Given the description of an element on the screen output the (x, y) to click on. 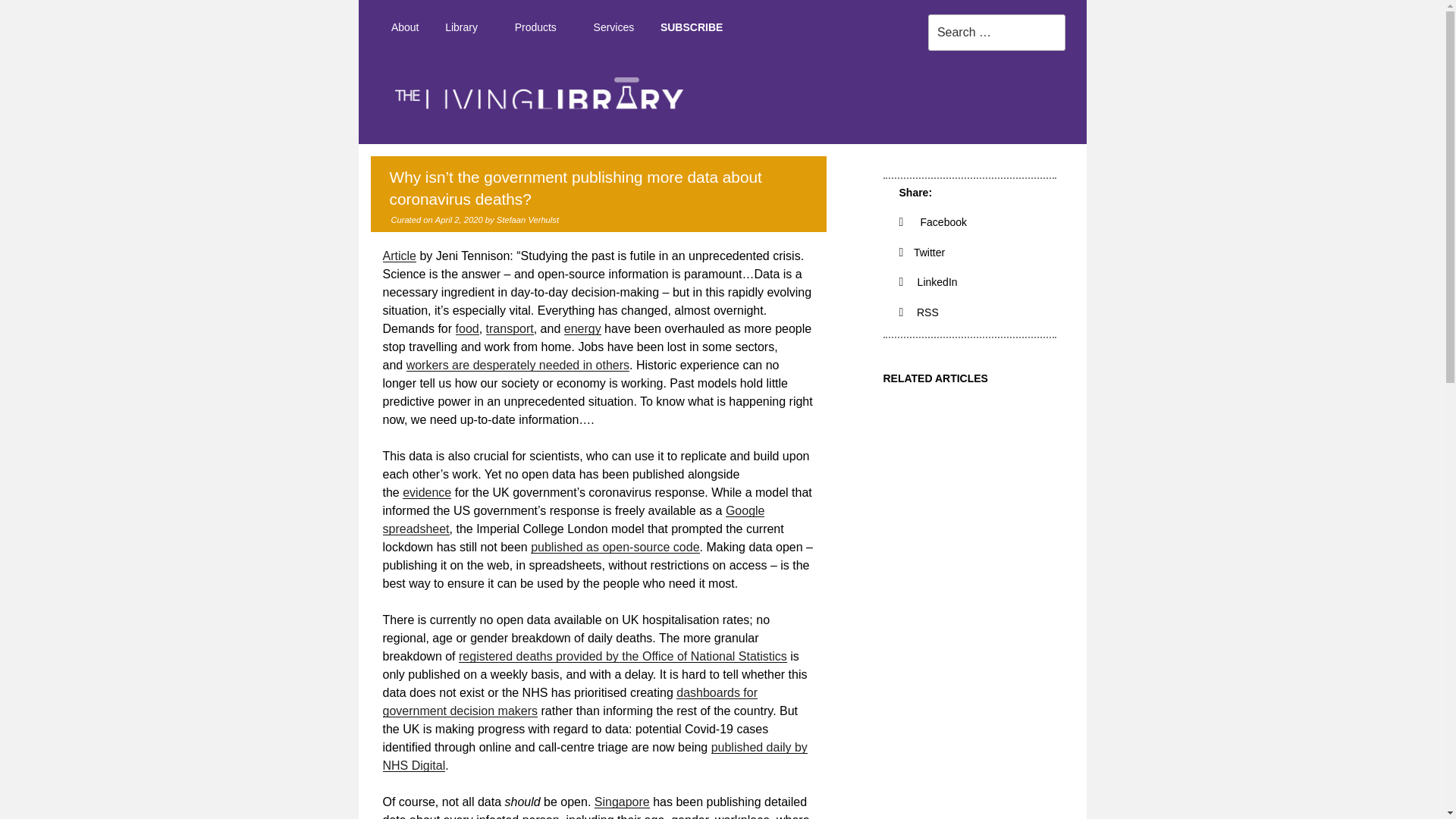
transport (510, 328)
Article (397, 255)
About (403, 27)
Library (466, 27)
SUBSCRIBE (692, 27)
dashboards for government decision makers (569, 701)
April 2, 2020 (459, 219)
published daily by NHS Digital (593, 756)
energy (582, 328)
